Given the description of an element on the screen output the (x, y) to click on. 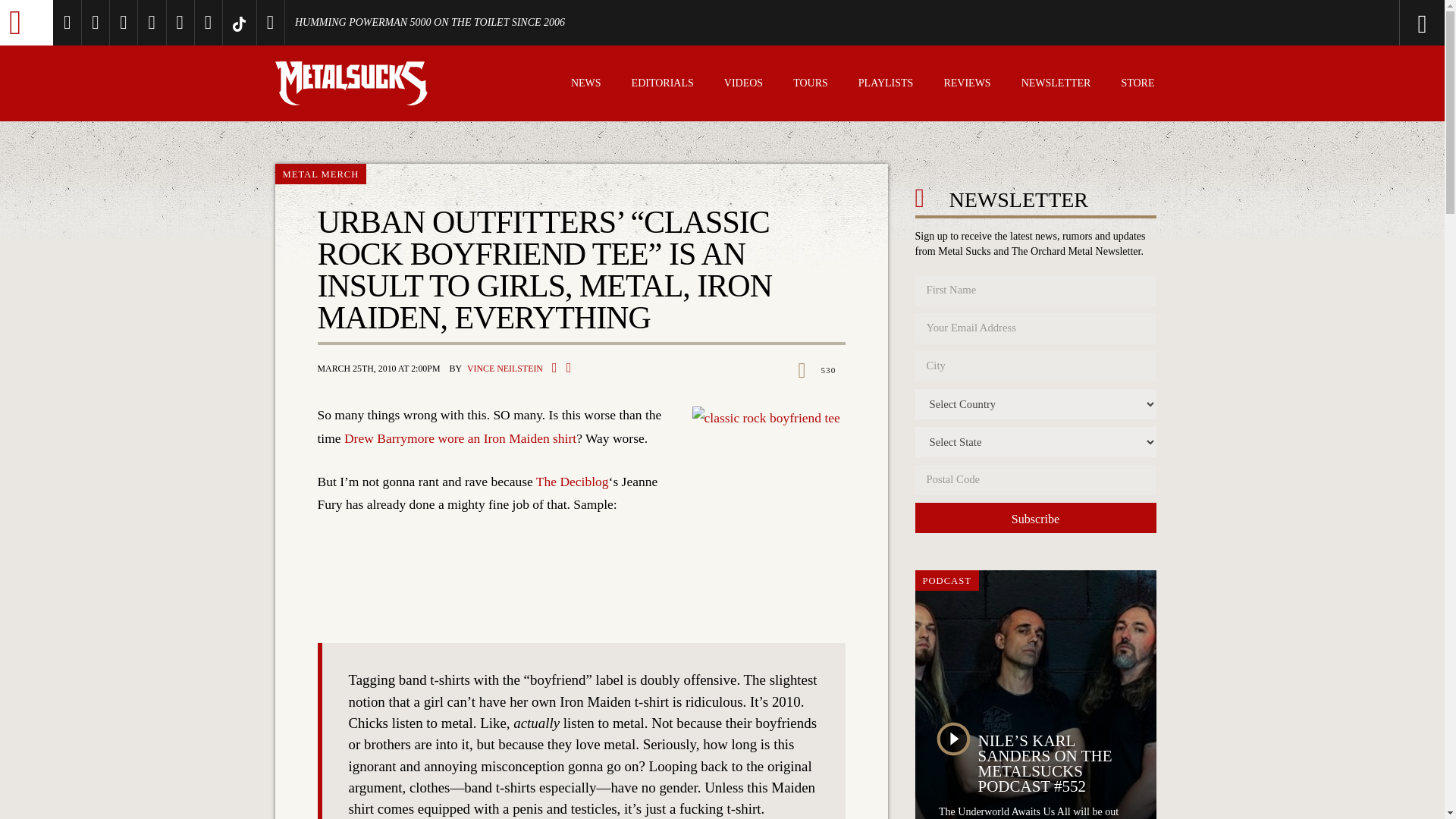
METAL MERCH (320, 173)
PLAYLISTS (886, 84)
STORE (1137, 84)
NEWSLETTER (1056, 84)
Search (1361, 22)
TOURS (810, 84)
VIDEOS (742, 84)
Subscribe (1035, 517)
REVIEWS (966, 84)
EDITORIALS (662, 84)
